Given the description of an element on the screen output the (x, y) to click on. 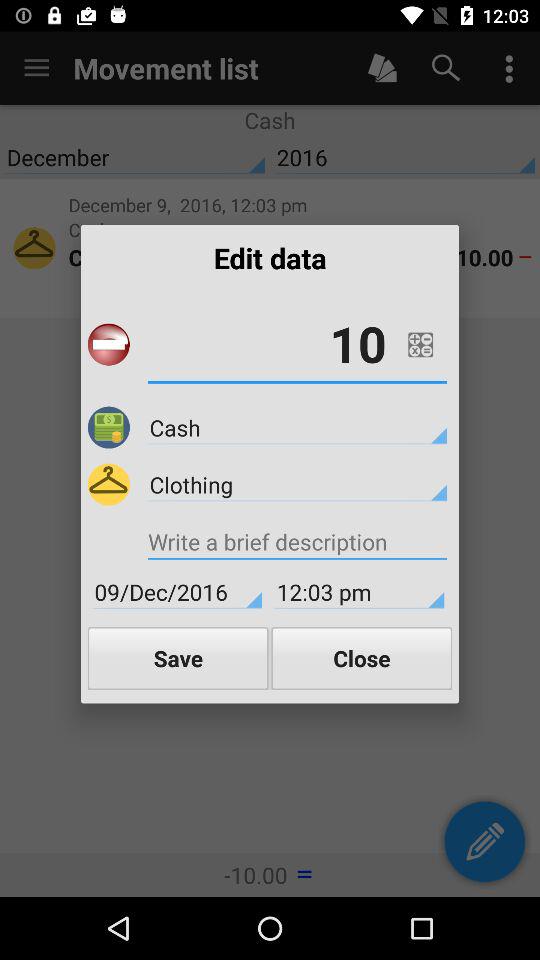
choose icon above cash icon (297, 344)
